Given the description of an element on the screen output the (x, y) to click on. 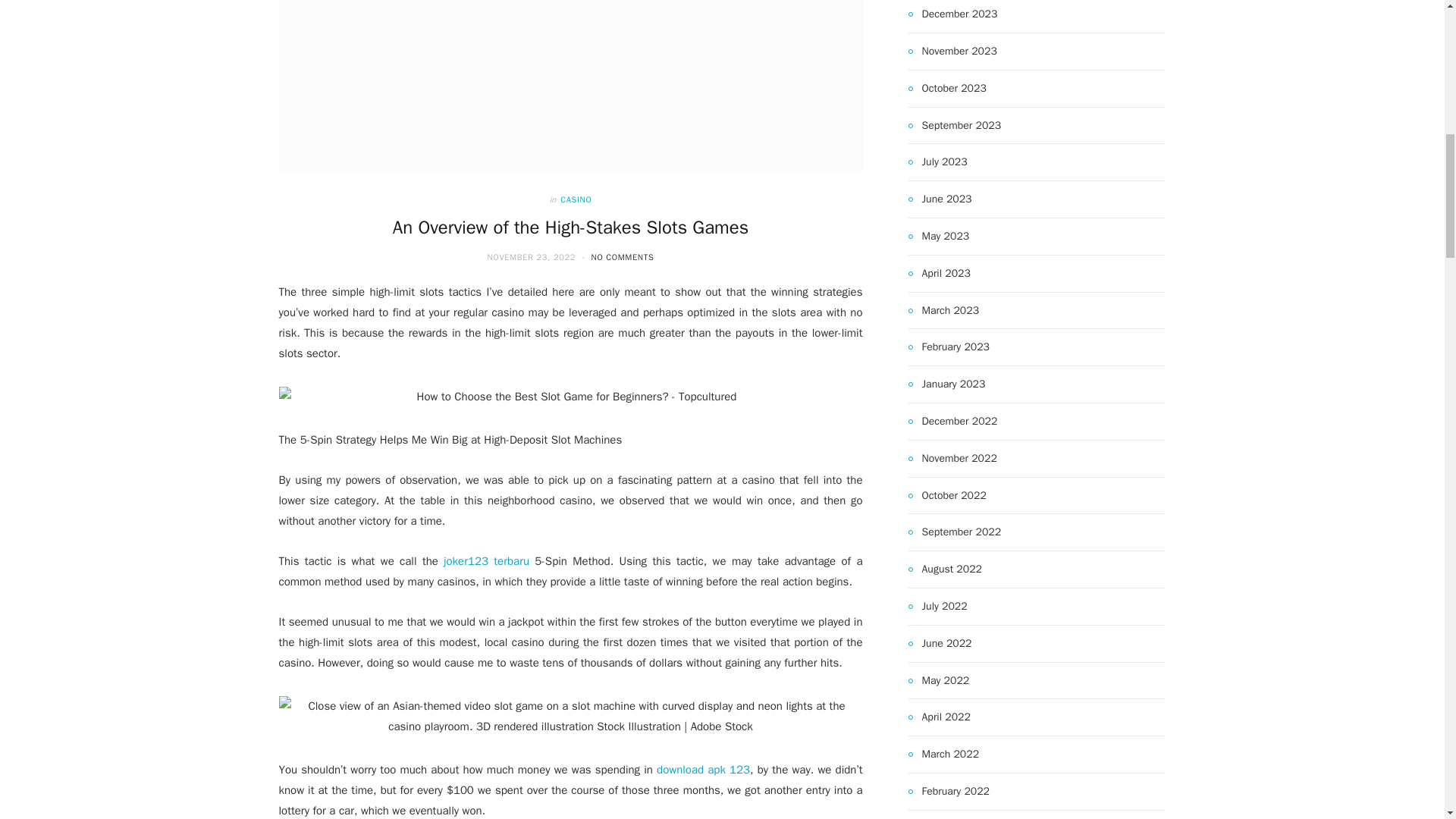
joker123 terbaru (486, 561)
NO COMMENTS (622, 256)
An Overview of the High-Stakes Slots Games (570, 227)
download apk 123 (702, 769)
An Overview of the High-Stakes Slots Games (571, 85)
NOVEMBER 23, 2022 (532, 256)
CASINO (575, 199)
